Given the description of an element on the screen output the (x, y) to click on. 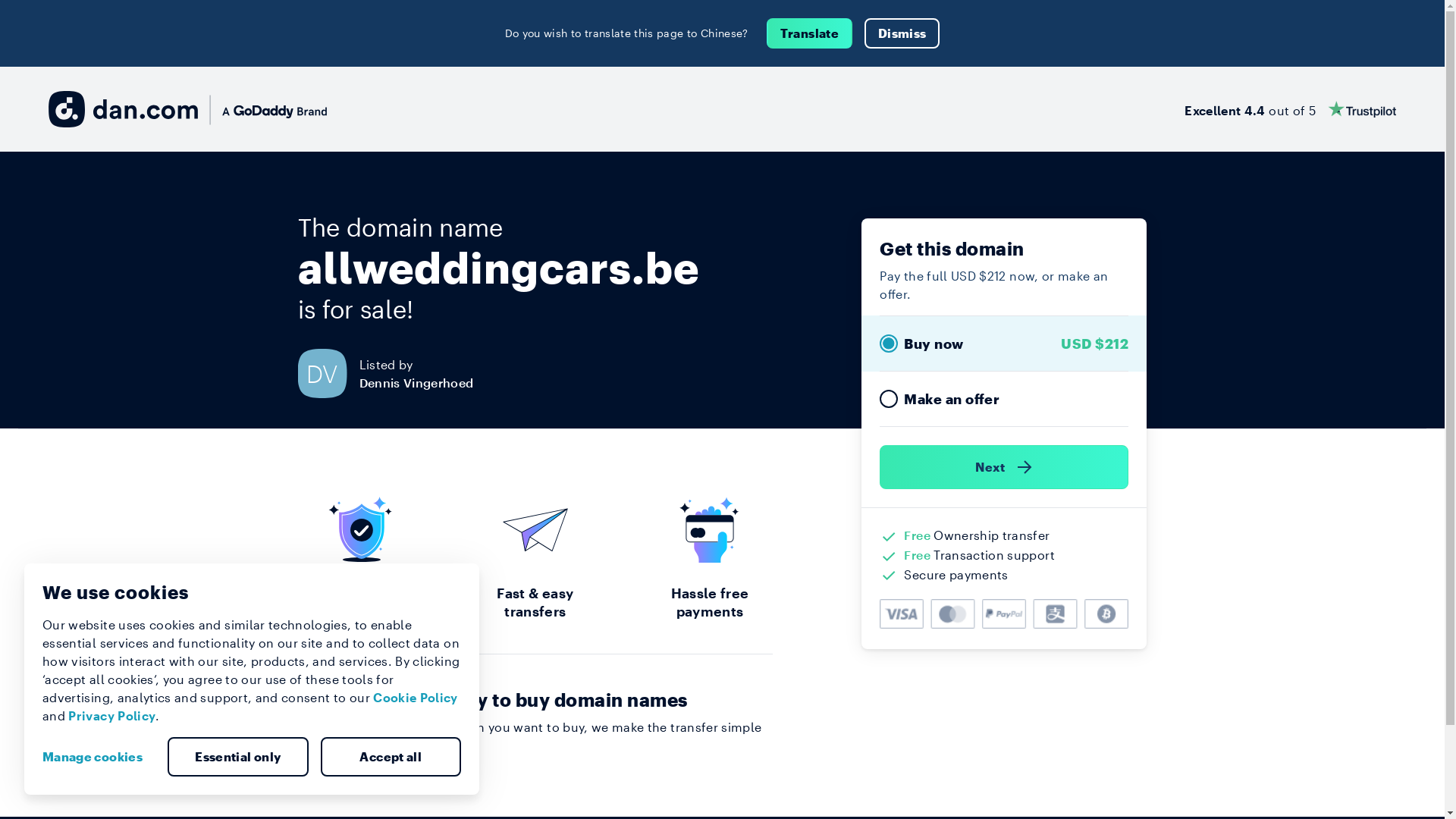
Essential only Element type: text (237, 756)
Cookie Policy Element type: text (415, 697)
Privacy Policy Element type: text (111, 715)
Excellent 4.4 out of 5 Element type: text (1290, 109)
Manage cookies Element type: text (98, 756)
Translate Element type: text (809, 33)
Next
) Element type: text (1003, 467)
DV Element type: text (327, 373)
Dismiss Element type: text (901, 33)
Accept all Element type: text (390, 756)
